Given the description of an element on the screen output the (x, y) to click on. 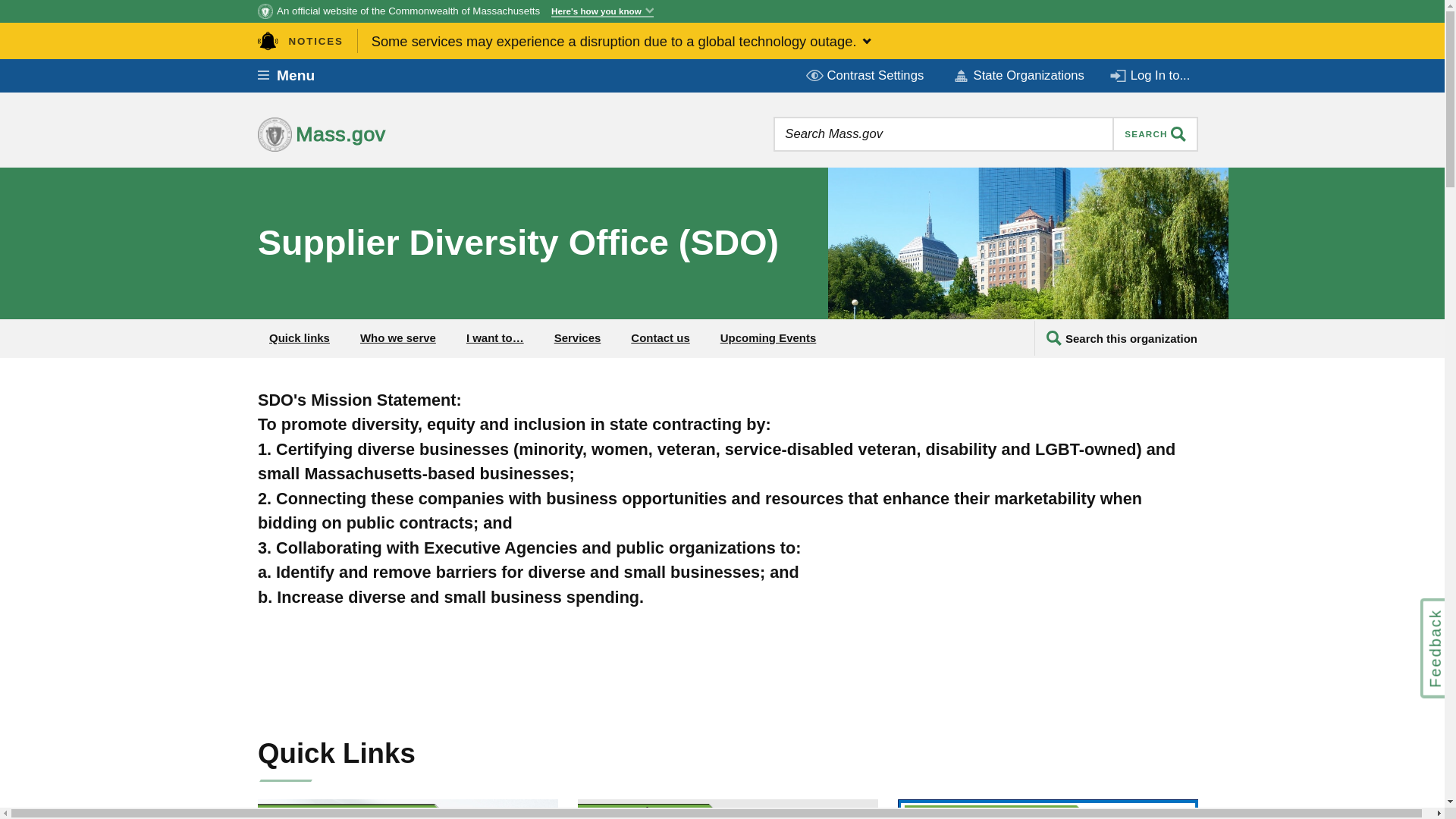
Menu (297, 75)
State Organizations (1018, 76)
Mass.gov home page (369, 134)
Log In to... (1151, 75)
Contrast Settings (866, 75)
